Given the description of an element on the screen output the (x, y) to click on. 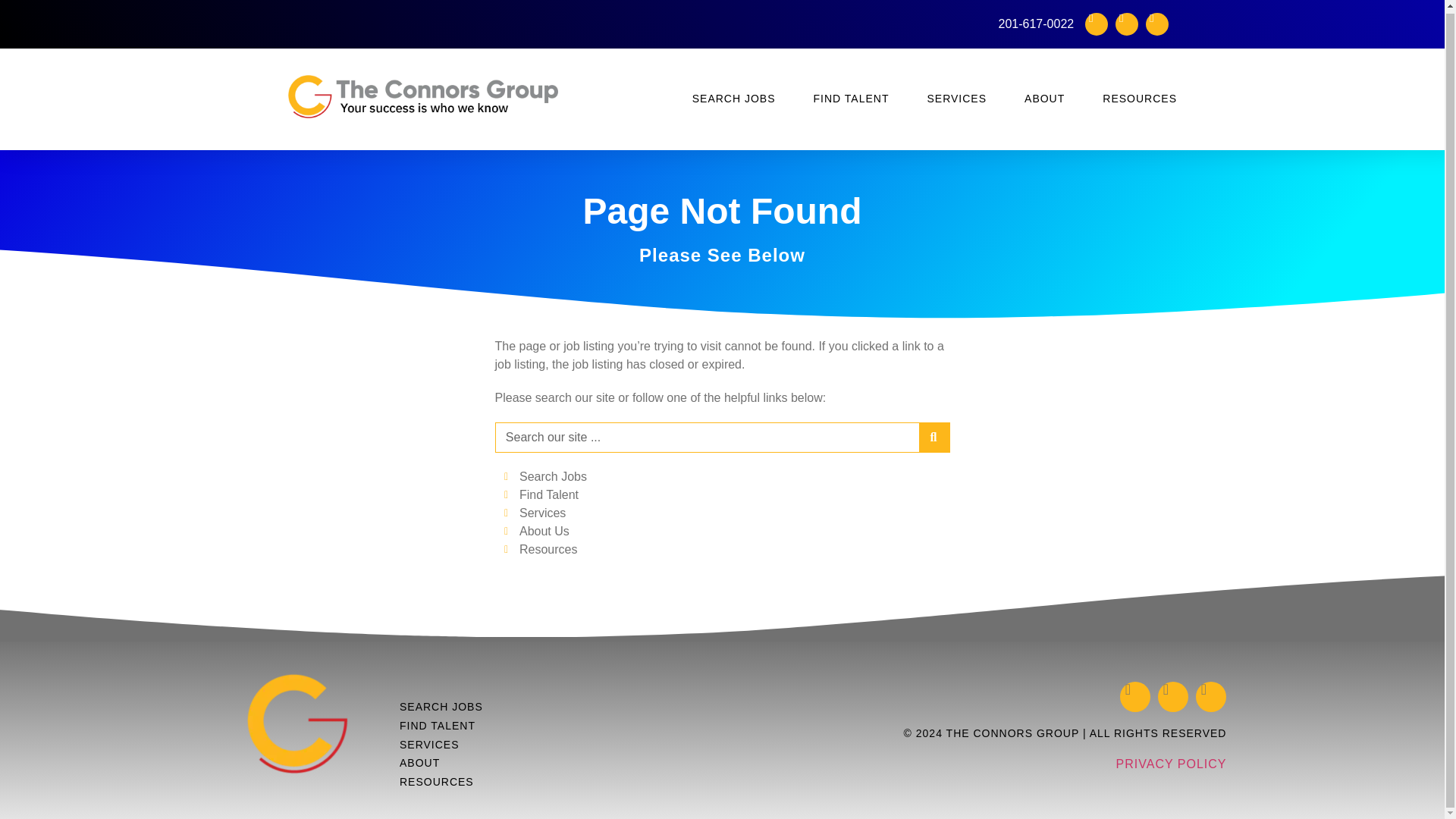
SEARCH JOBS (734, 96)
ABOUT (1044, 96)
SERVICES (956, 96)
FIND TALENT (851, 96)
RESOURCES (1139, 96)
